Given the description of an element on the screen output the (x, y) to click on. 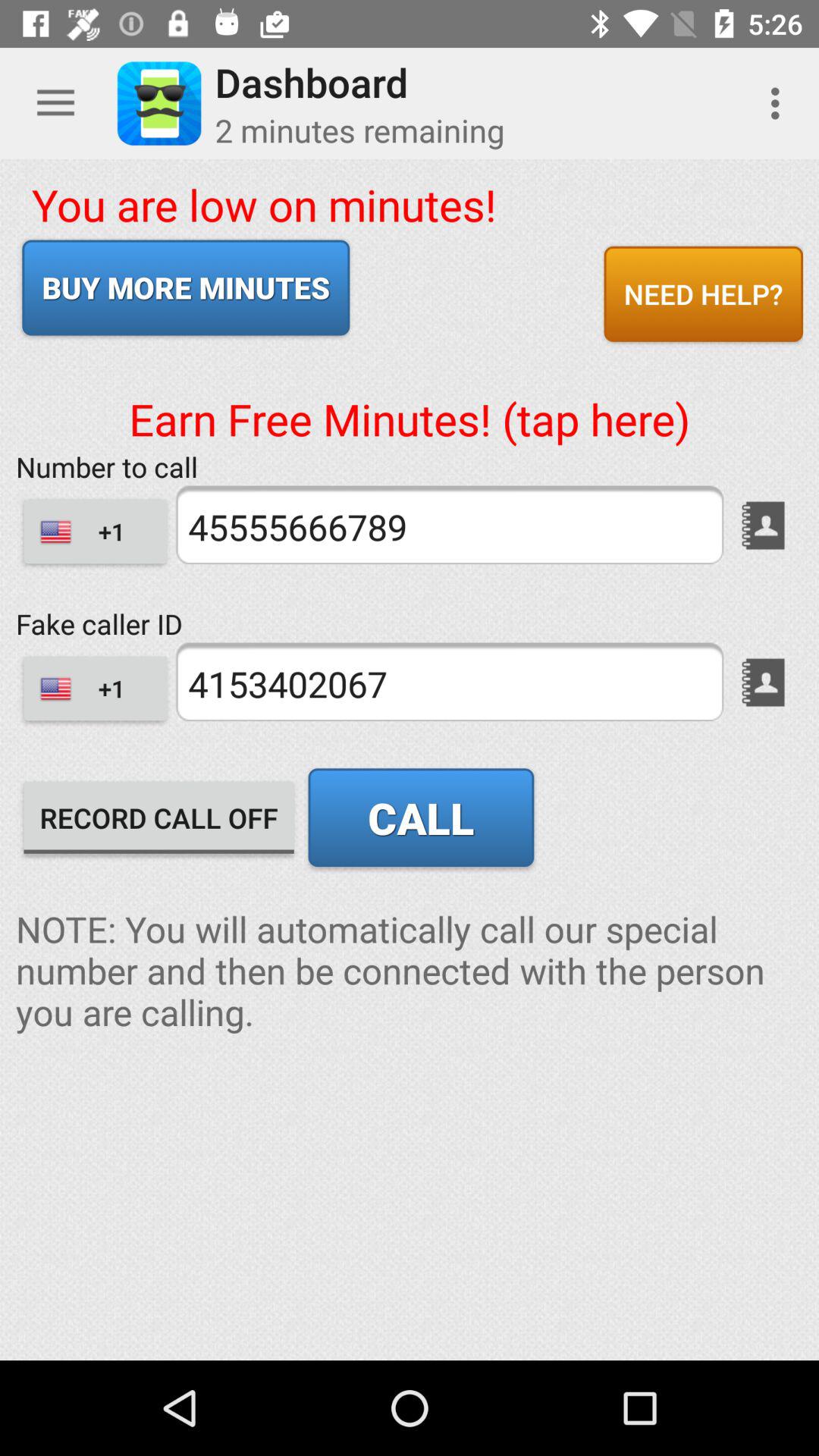
jump until record call off icon (158, 817)
